Given the description of an element on the screen output the (x, y) to click on. 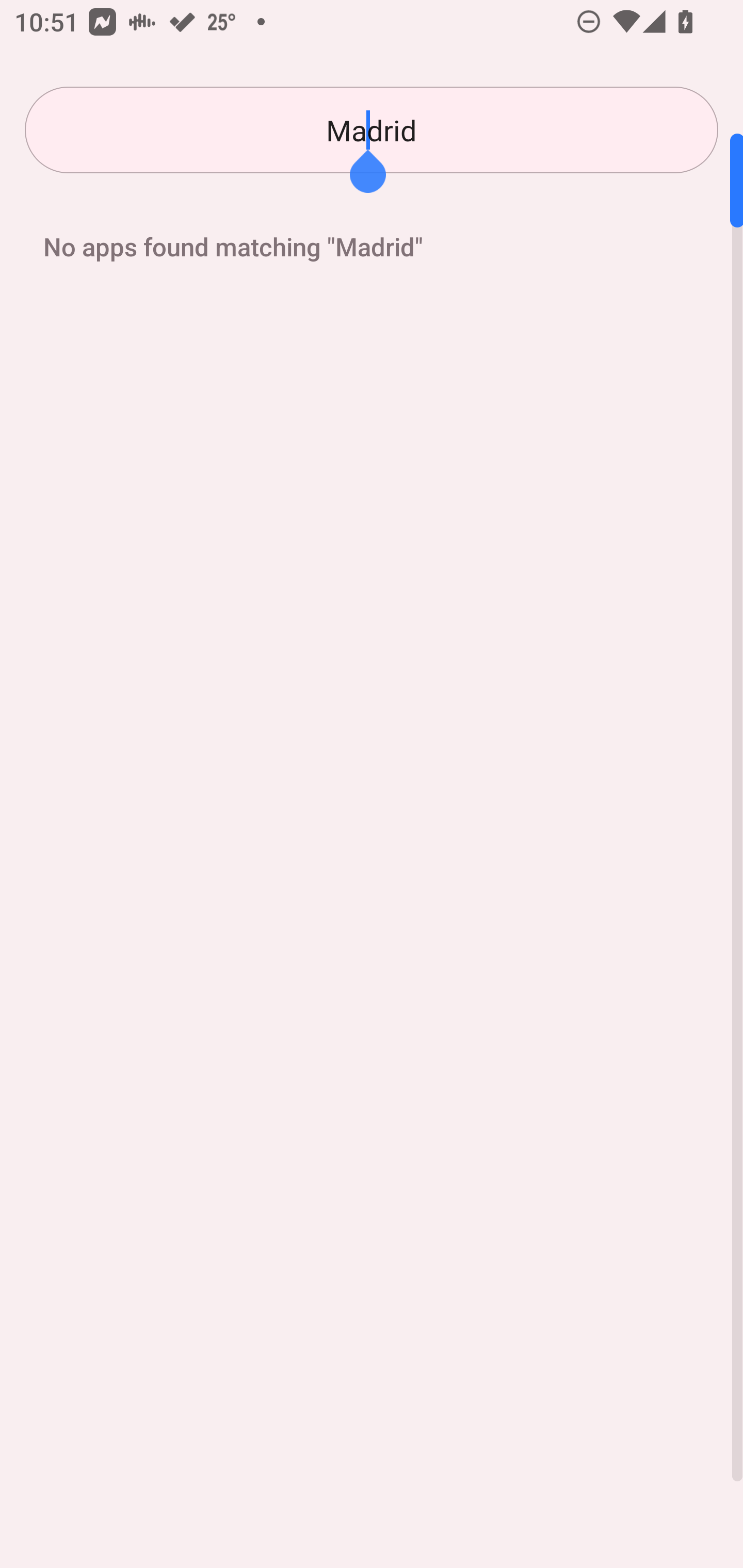
Madrid (371, 130)
